Given the description of an element on the screen output the (x, y) to click on. 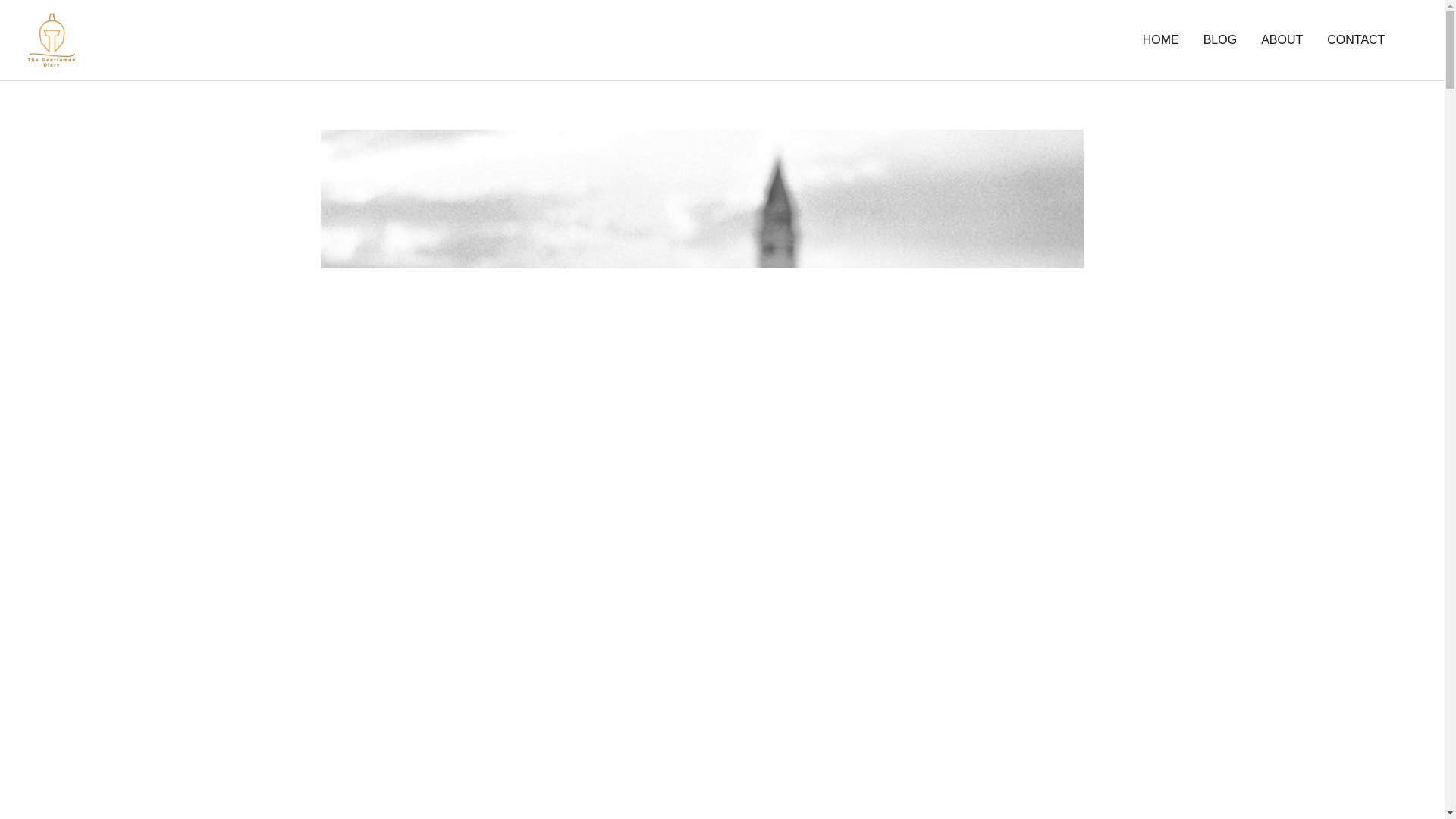
CONTACT (1355, 39)
